Given the description of an element on the screen output the (x, y) to click on. 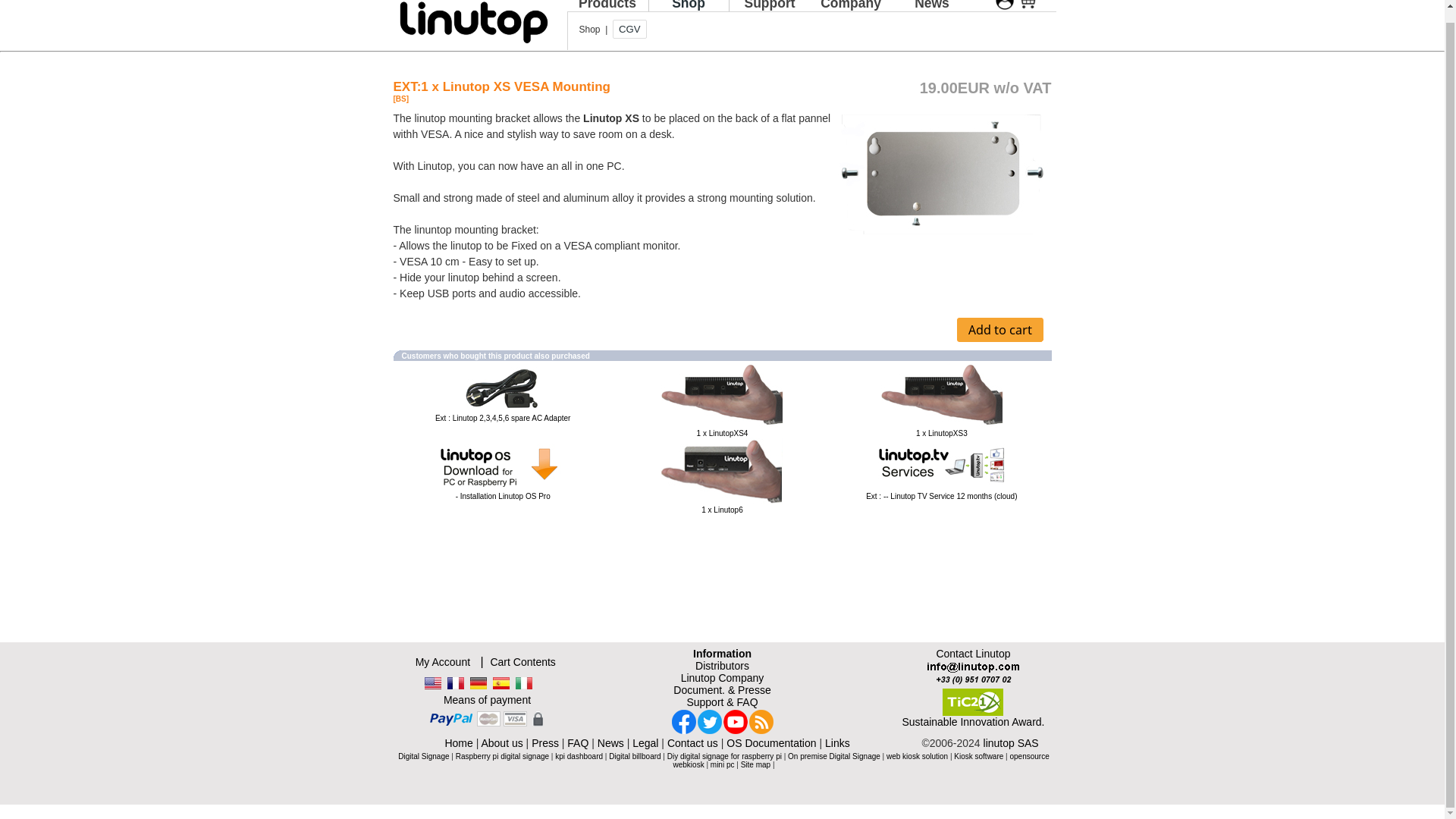
Home (457, 743)
Frequently Asked Questions (769, 5)
 Add to Cart  (999, 329)
Cart Contents (521, 662)
1 x Linutop6 (721, 510)
Ext : Linutop 2,3,4,5,6 spare AC Adapter (502, 418)
Linutop Company (722, 677)
 - Installation Linutop OS Pro  (502, 464)
1 x LinutopXS4 (722, 433)
Shop (689, 5)
Support (769, 5)
Products (606, 5)
Cart Contents (521, 662)
method of payment (486, 719)
